Given the description of an element on the screen output the (x, y) to click on. 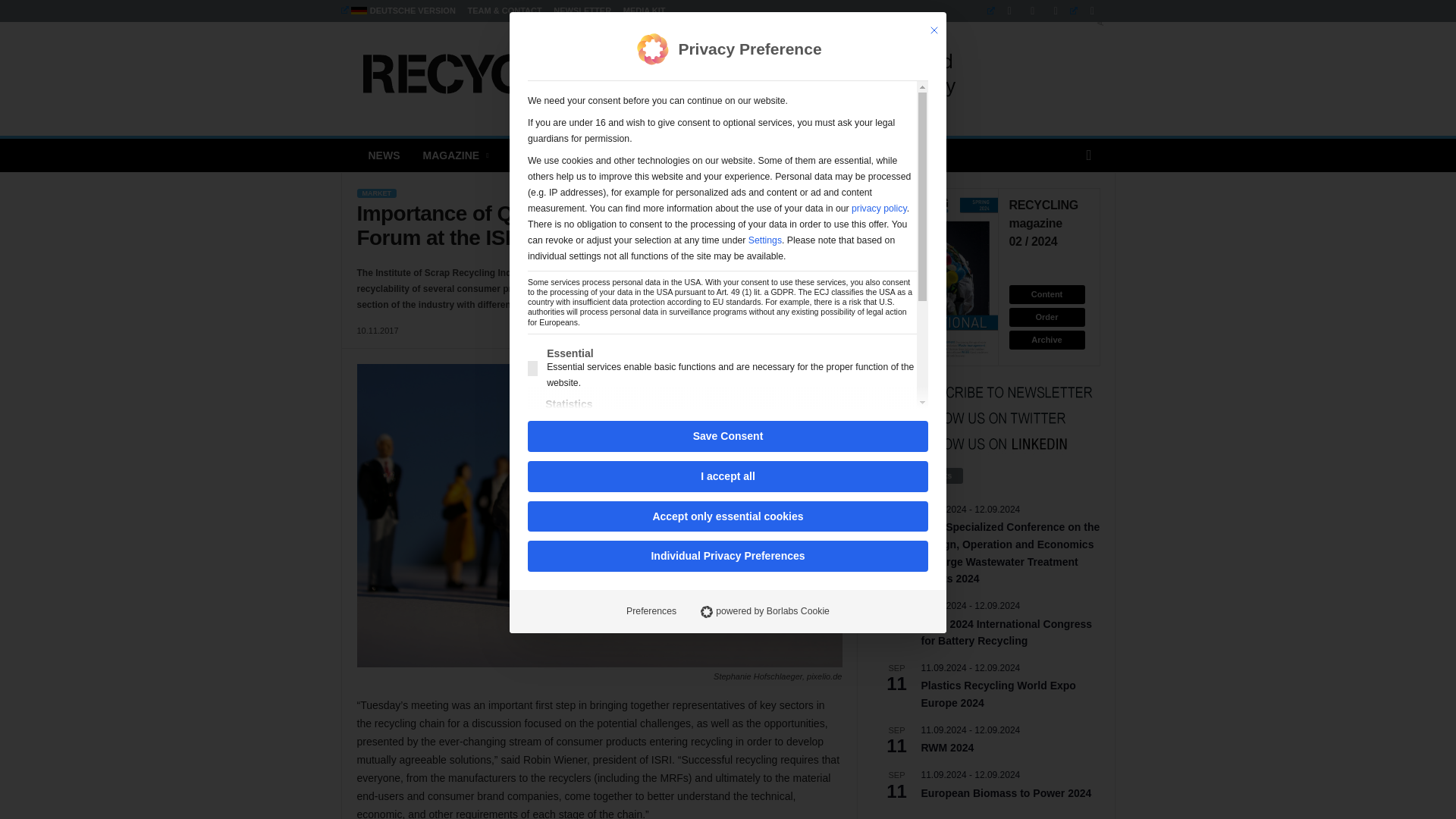
DEUTSCHE VERSION (397, 10)
Twitter (1086, 11)
MEDIA KIT (644, 10)
NEWSLETTER (582, 10)
Linkedin (1003, 11)
